Given the description of an element on the screen output the (x, y) to click on. 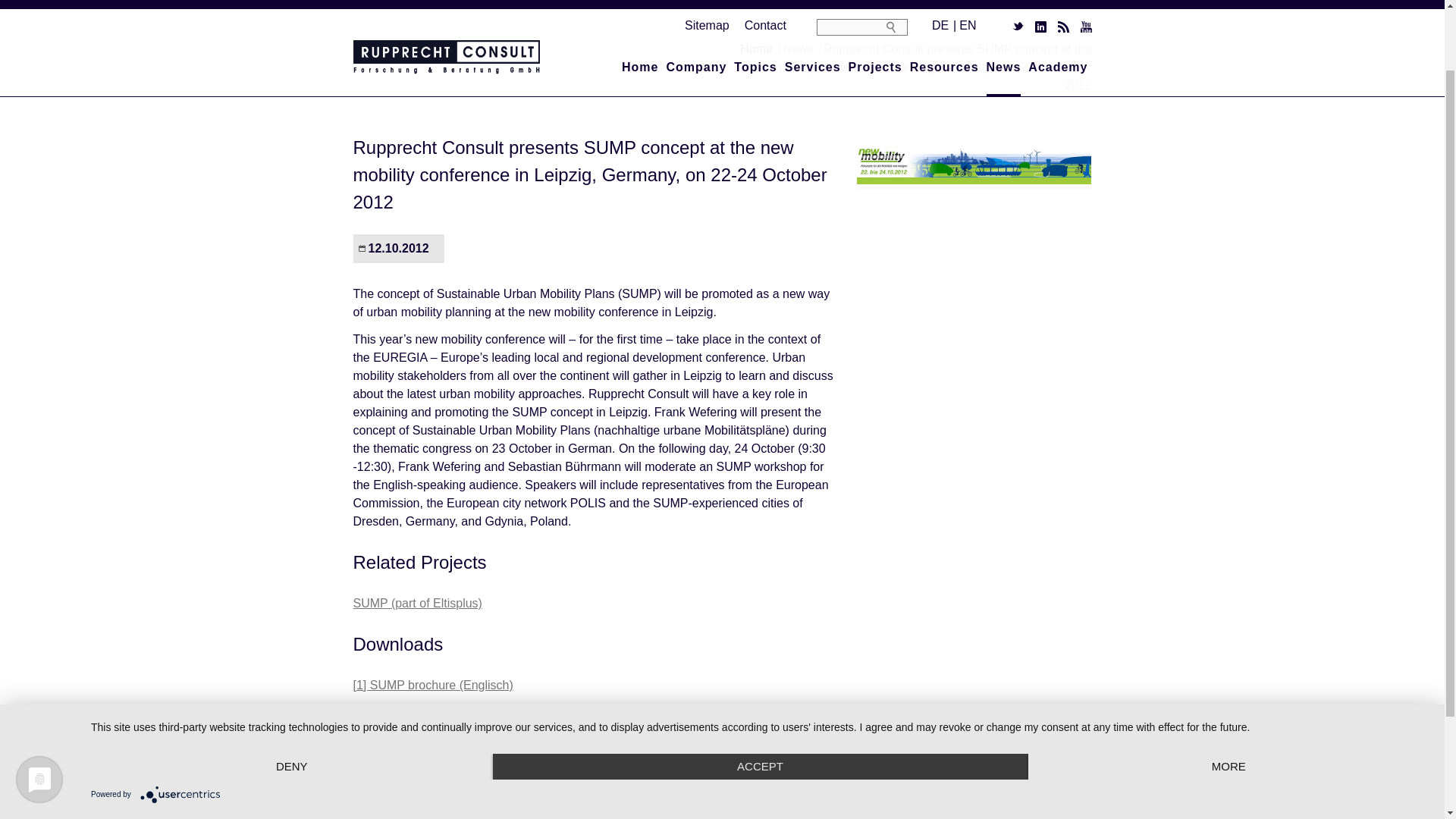
Services (812, 10)
Company (695, 10)
Projects (875, 10)
Topics (754, 10)
News (1004, 10)
Resources (944, 10)
Home (639, 10)
Academy (1057, 10)
